Given the description of an element on the screen output the (x, y) to click on. 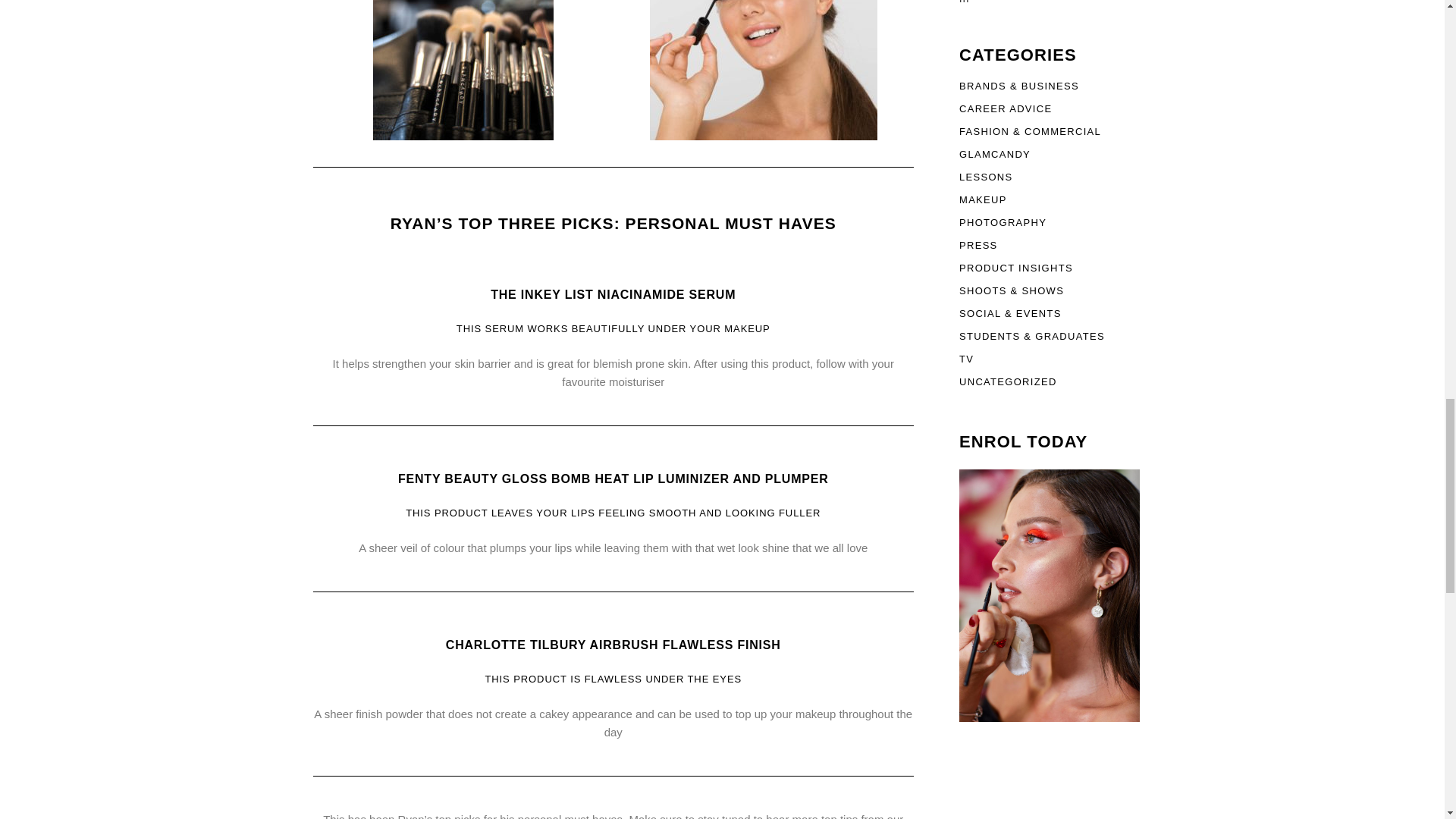
Ryan's Top Picks GlamCandy (1049, 595)
Ryan's Top Picks GlamCandy (763, 70)
Ryan's Top Picks GlamCandy (462, 70)
